Given the description of an element on the screen output the (x, y) to click on. 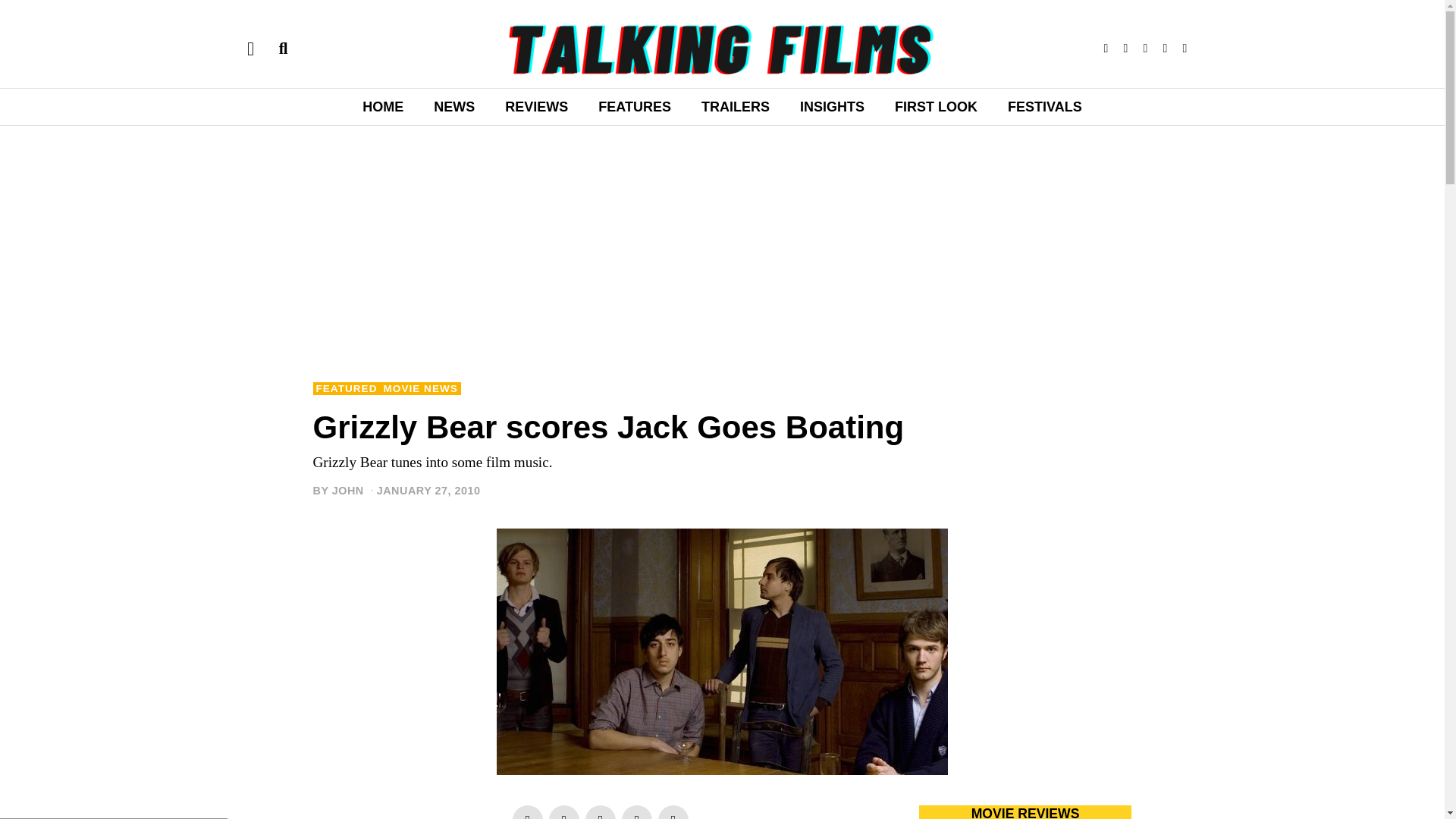
REVIEWS (536, 106)
NEWS (454, 106)
HOME (383, 106)
FEATURES (634, 106)
